Given the description of an element on the screen output the (x, y) to click on. 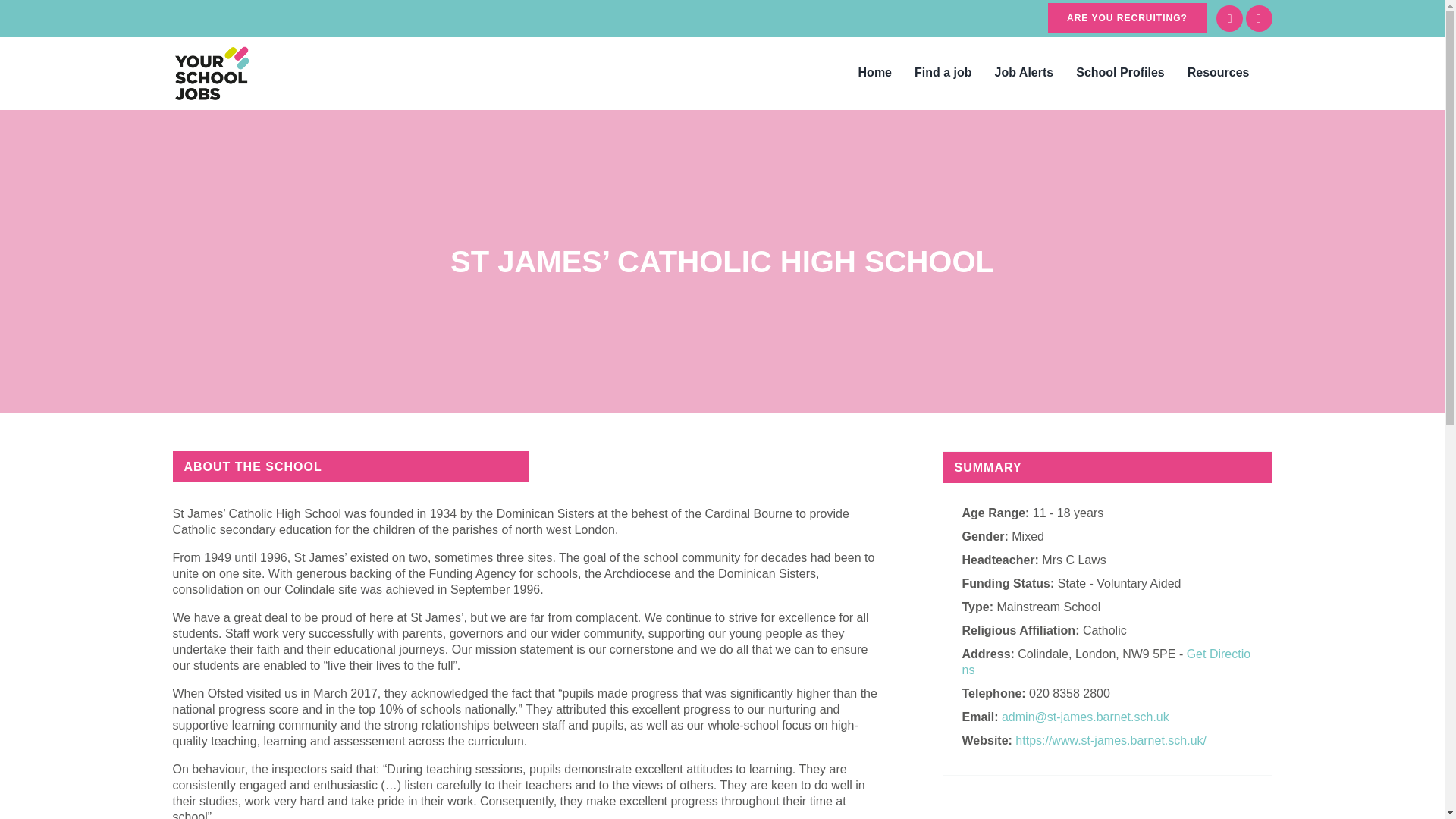
School Profiles (1119, 72)
ARE YOU RECRUITING? (1127, 18)
Get Directions (1105, 661)
